Given the description of an element on the screen output the (x, y) to click on. 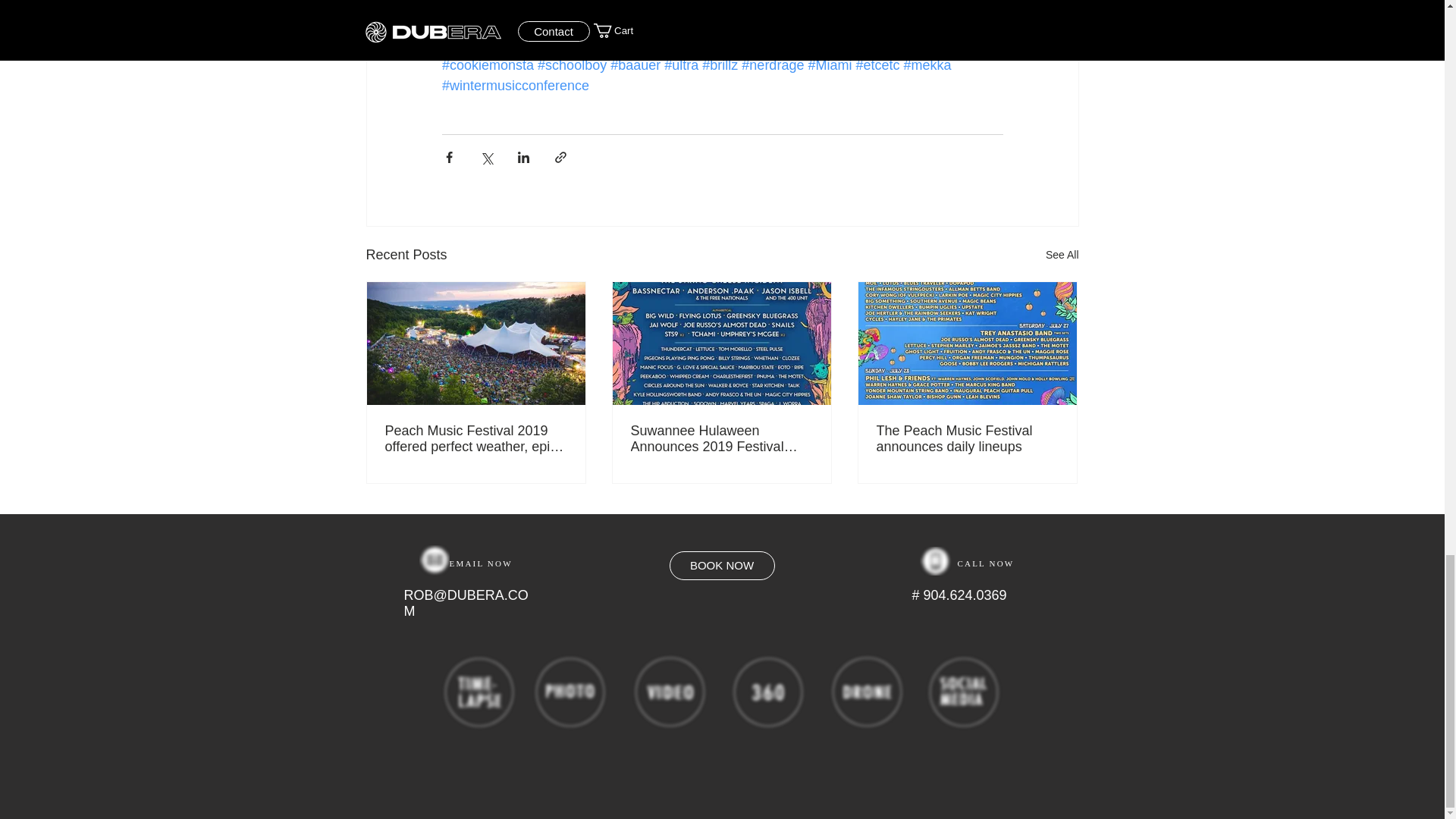
Suwannee Hulaween Announces 2019 Festival Lineup! (721, 439)
You can buy tickets here. (516, 5)
See All (1061, 255)
